Given the description of an element on the screen output the (x, y) to click on. 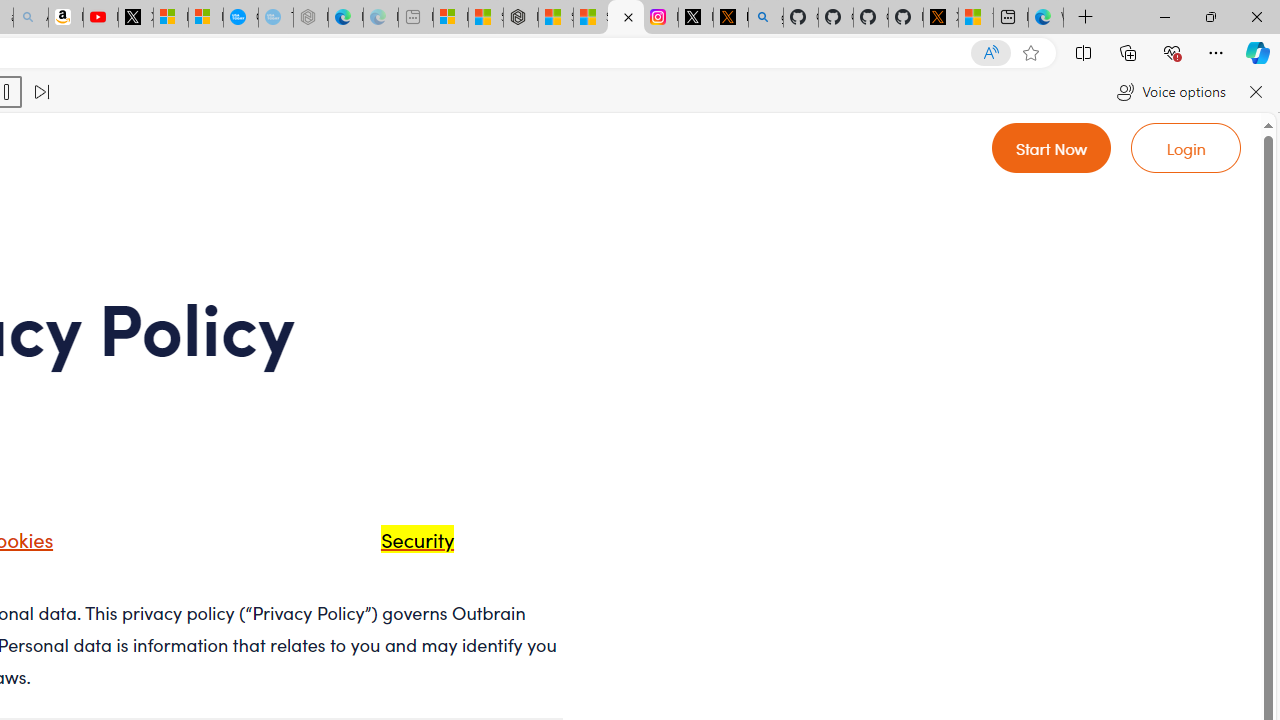
github - Search (765, 17)
Nordace - Nordace has arrived Hong Kong - Sleeping (310, 17)
Go to Register (1051, 147)
Day 1: Arriving in Yemen (surreal to be here) - YouTube (100, 17)
The most popular Google 'how to' searches - Sleeping (275, 17)
Security (411, 538)
Close read aloud (1255, 92)
